Given the description of an element on the screen output the (x, y) to click on. 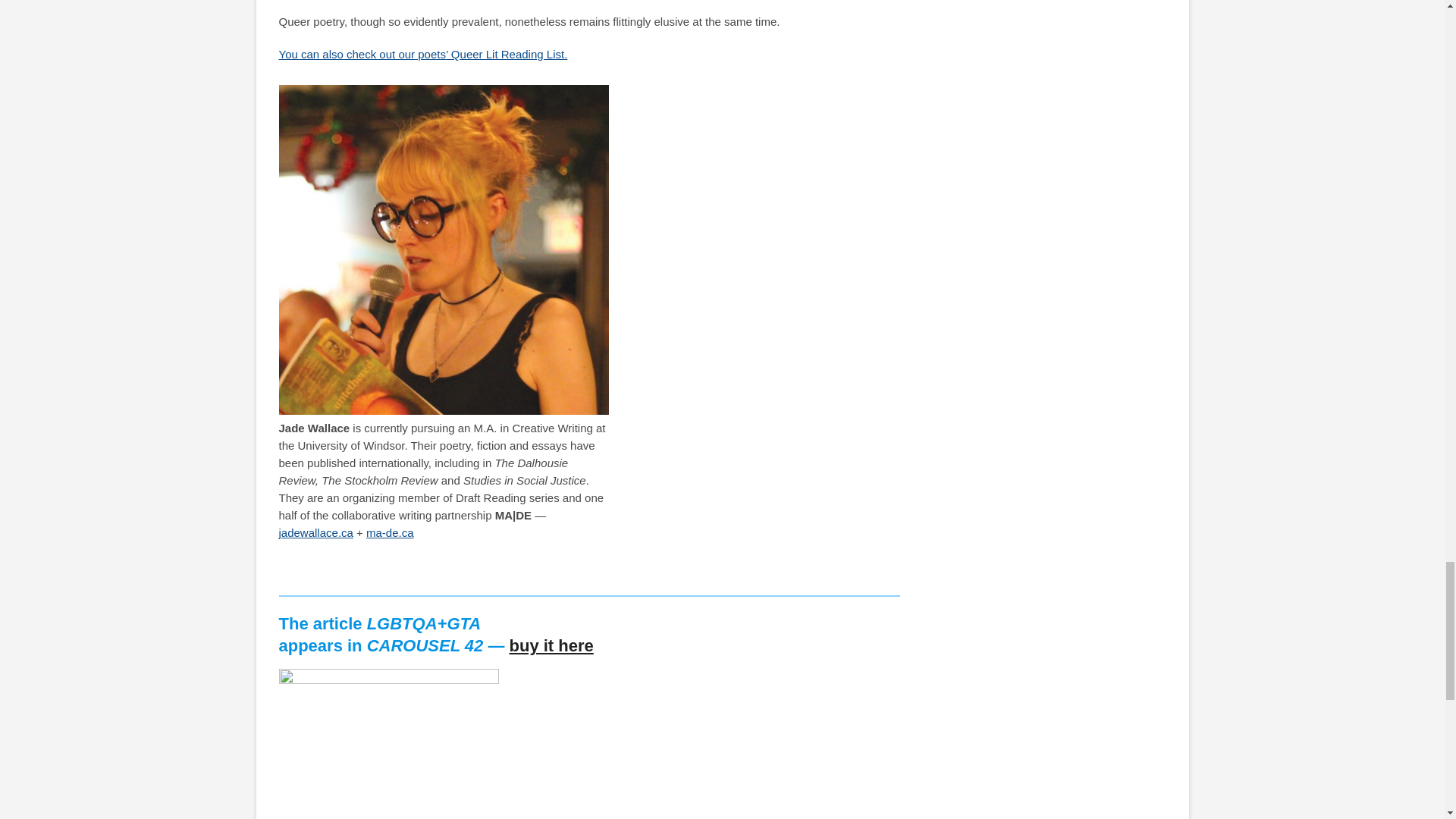
ma-de.ca (389, 532)
jadewallace.ca (316, 532)
